Given the description of an element on the screen output the (x, y) to click on. 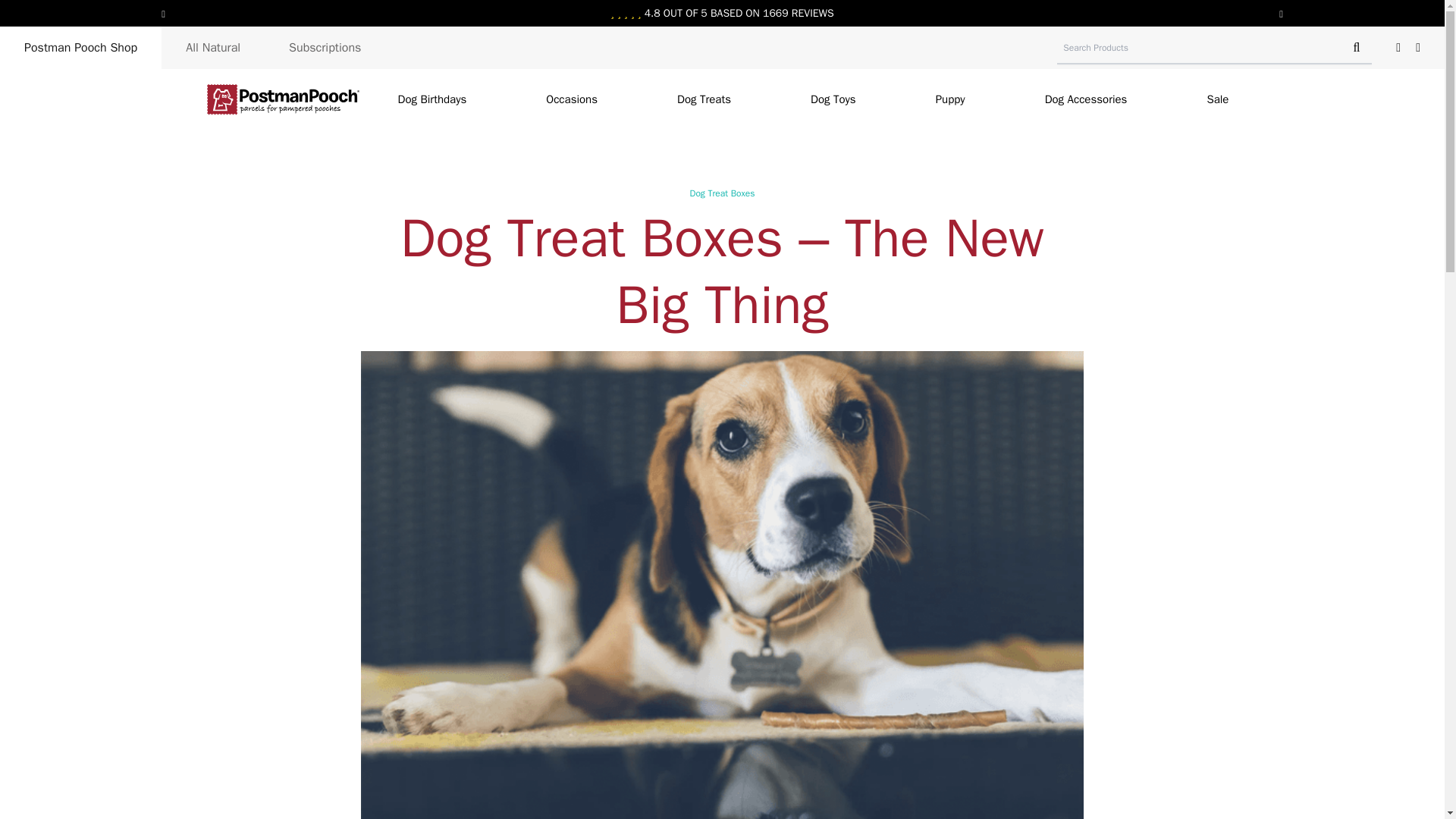
Postman Pooch Shop (80, 47)
4.8 OUT OF 5 BASED ON 1669 REVIEWS (721, 12)
Subscriptions (324, 47)
All Natural (212, 47)
